Given the description of an element on the screen output the (x, y) to click on. 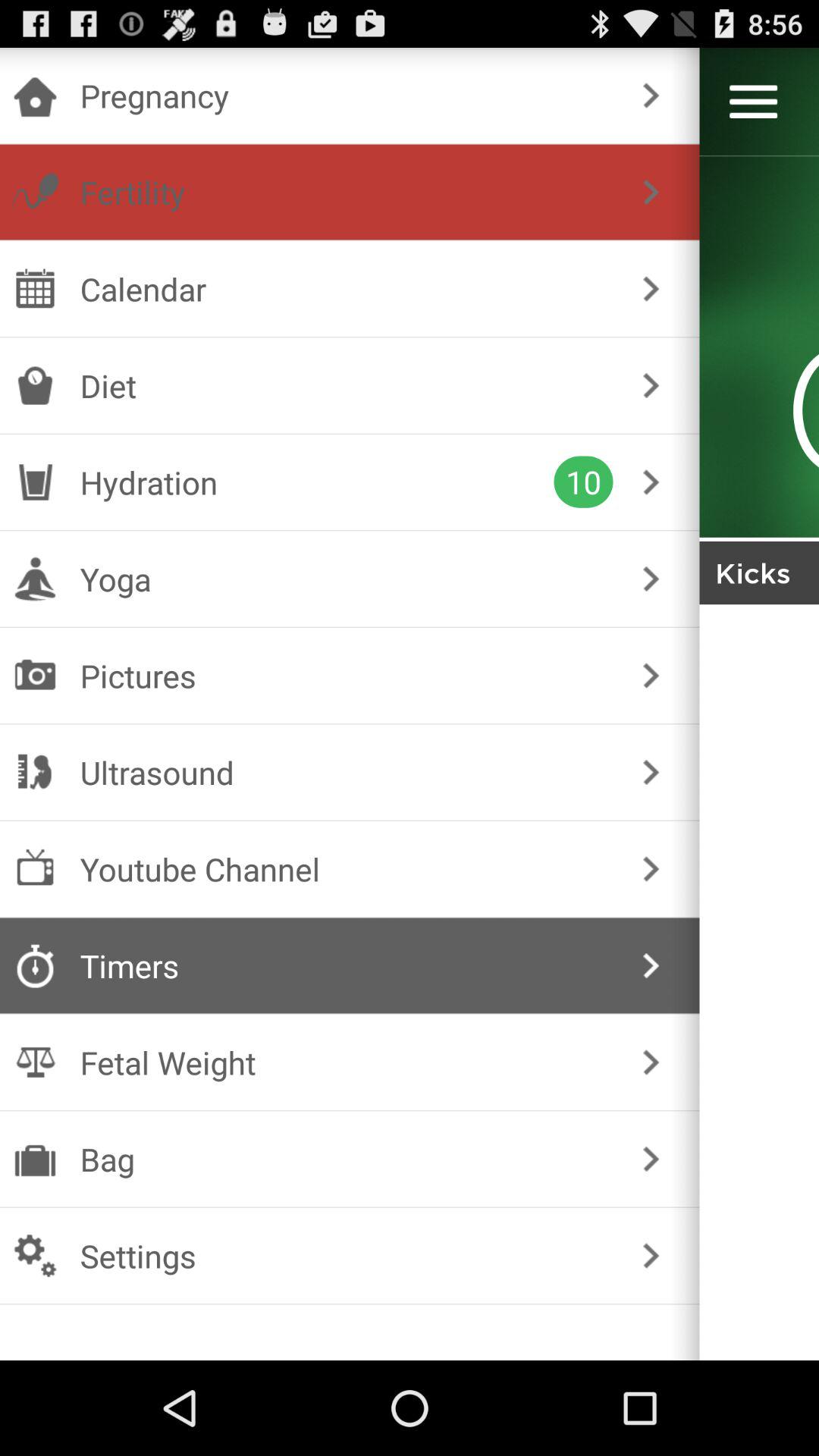
jump to the fetal weight icon (346, 1062)
